Given the description of an element on the screen output the (x, y) to click on. 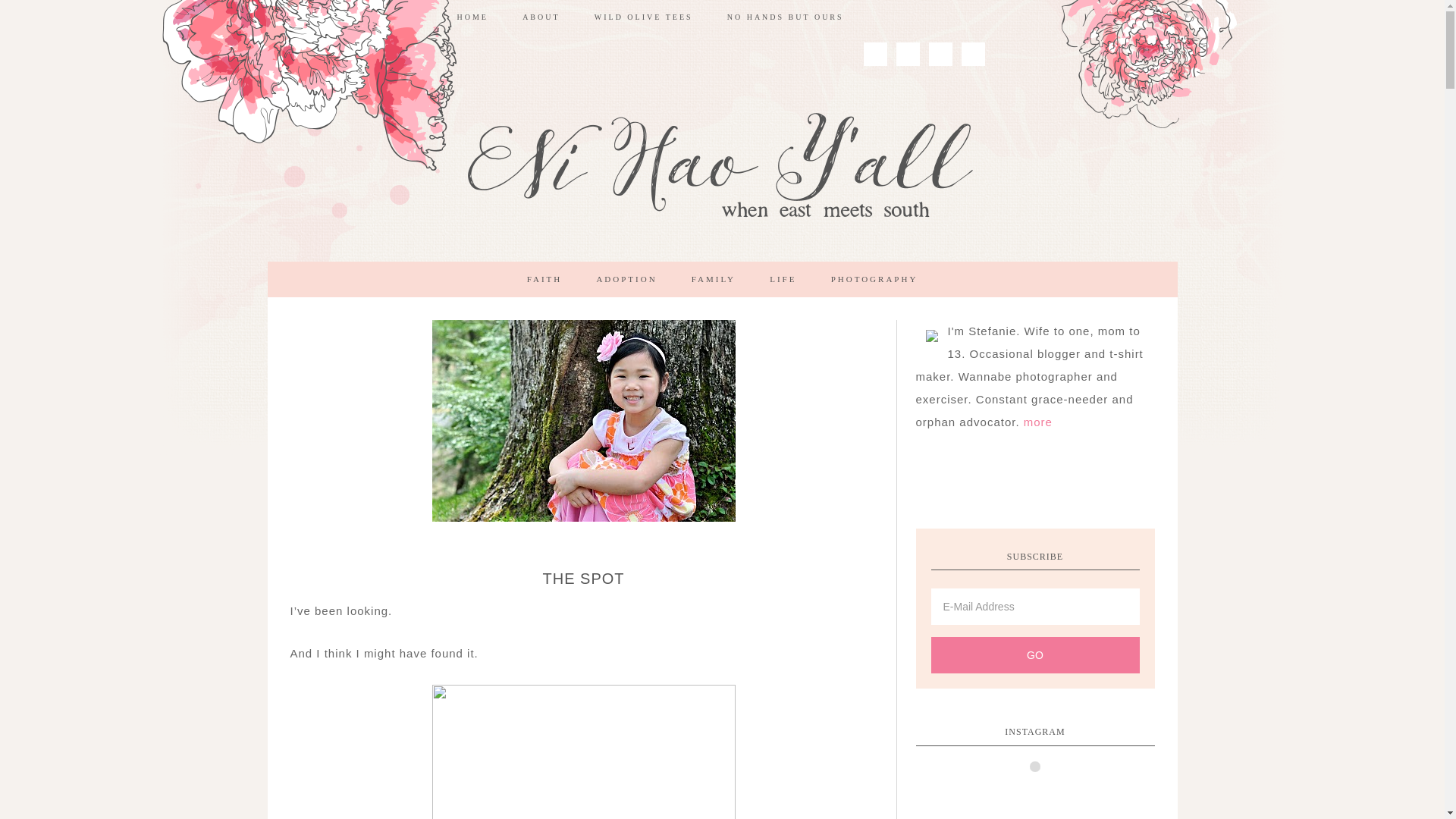
NI HAO Y'ALL (721, 167)
WILD OLIVE TEES (643, 17)
HOME (471, 17)
Go (1035, 655)
ADOPTION (625, 279)
FAITH (545, 279)
LIFE (782, 279)
NO HANDS BUT OURS (785, 17)
FAMILY (714, 279)
ABOUT (540, 17)
